Given the description of an element on the screen output the (x, y) to click on. 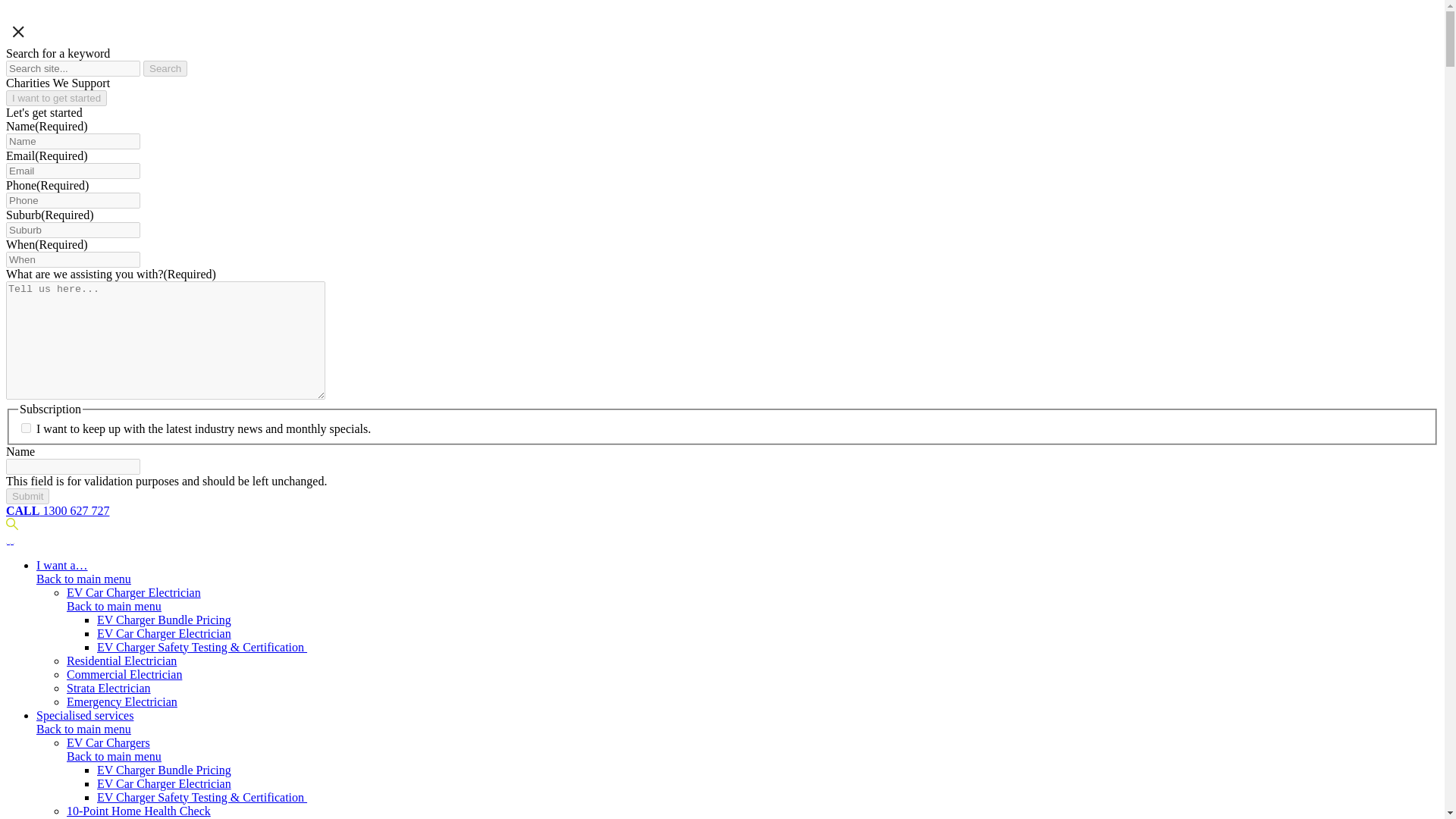
EV Charger Bundle Pricing (164, 769)
EV Charger Bundle Pricing (164, 619)
EV Car Charger Electrician (133, 592)
10-Point Home Health Check (138, 810)
1 (25, 428)
Back to main menu (83, 728)
EV Car Chargers (107, 742)
EV Car Charger Electrician (164, 633)
Search (164, 68)
I want to get started (55, 98)
